Given the description of an element on the screen output the (x, y) to click on. 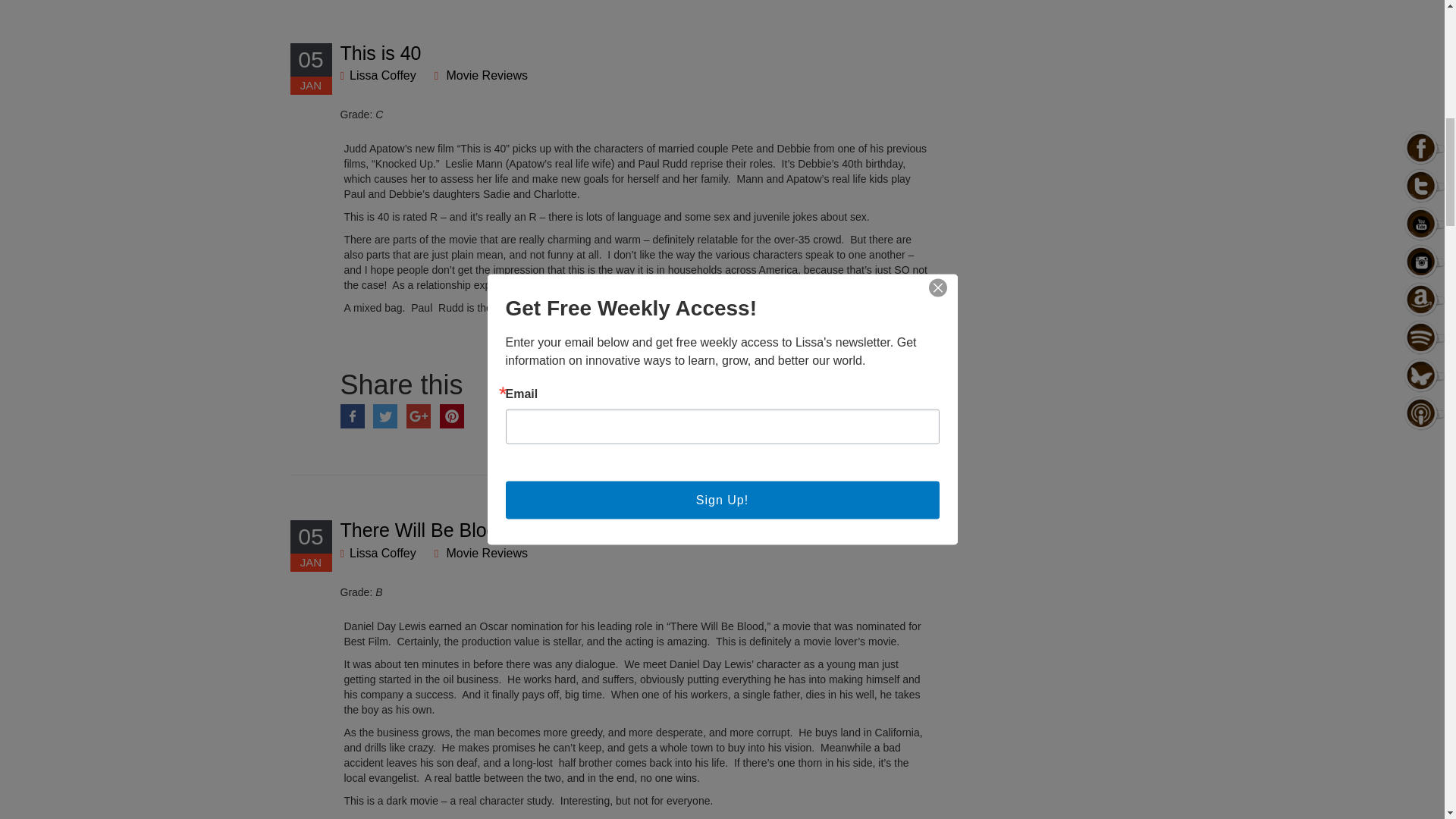
This is 40 (379, 52)
There Will Be Blood (422, 529)
